Given the description of an element on the screen output the (x, y) to click on. 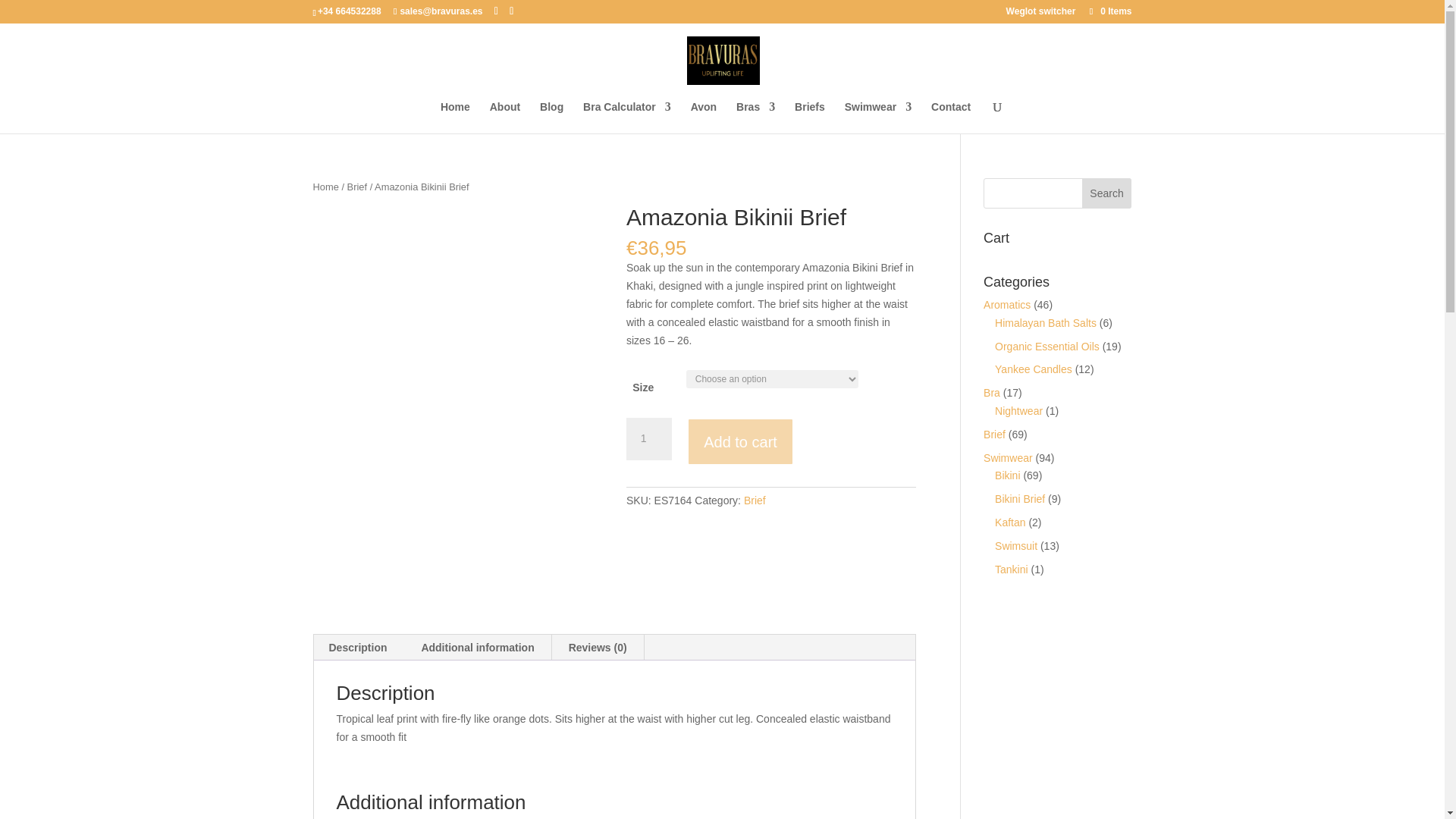
Additional information (477, 647)
Home (455, 117)
Home (325, 186)
1 (648, 438)
Swimwear (877, 117)
Weglot switcher (1040, 14)
Add to cart (740, 441)
Search (1106, 193)
Bras (755, 117)
Contact (951, 117)
